Given the description of an element on the screen output the (x, y) to click on. 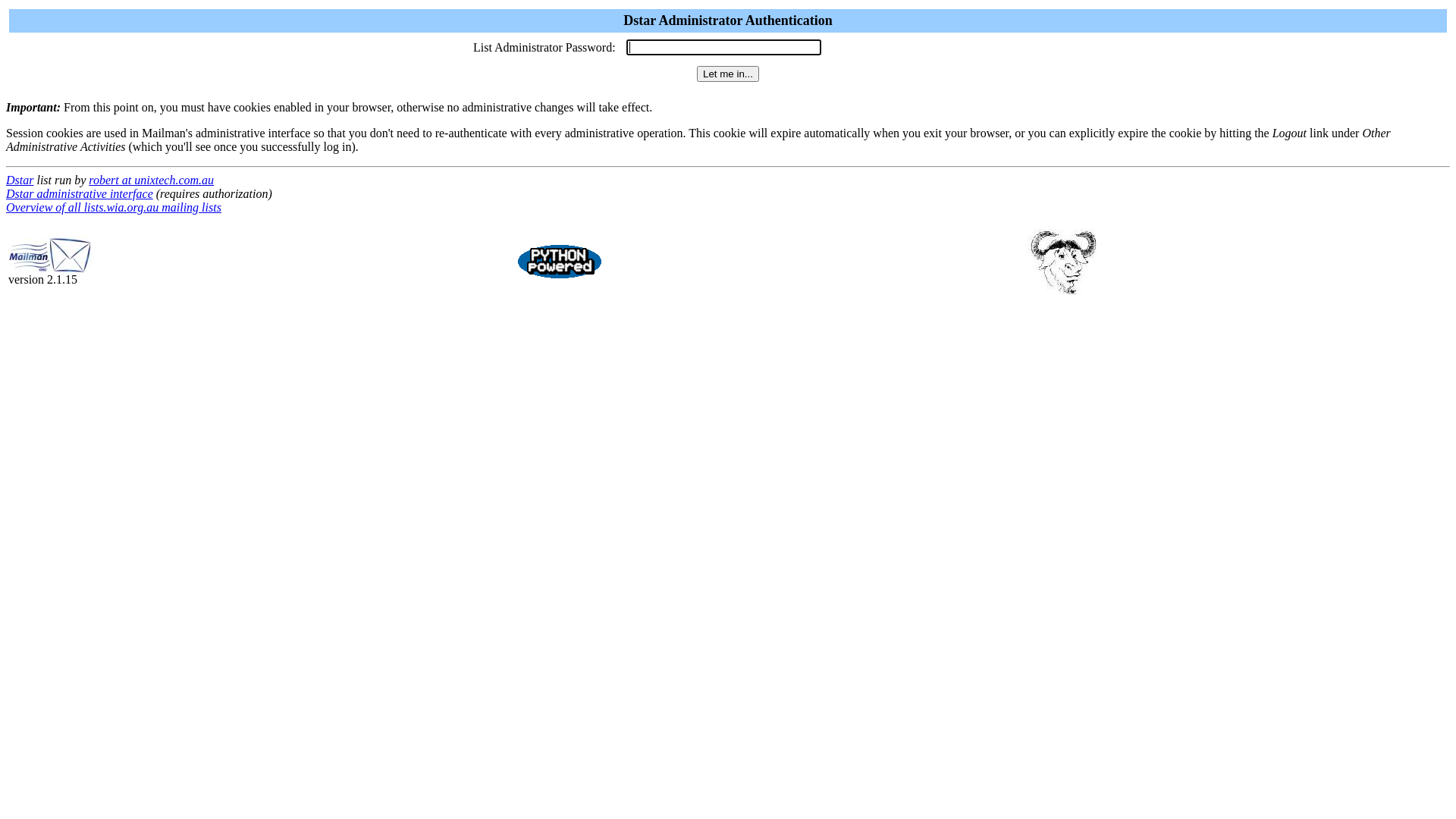
Dstar administrative interface Element type: text (79, 193)
Overview of all lists.wia.org.au mailing lists Element type: text (113, 206)
Dstar Element type: text (19, 179)
robert at unixtech.com.au Element type: text (150, 179)
